Given the description of an element on the screen output the (x, y) to click on. 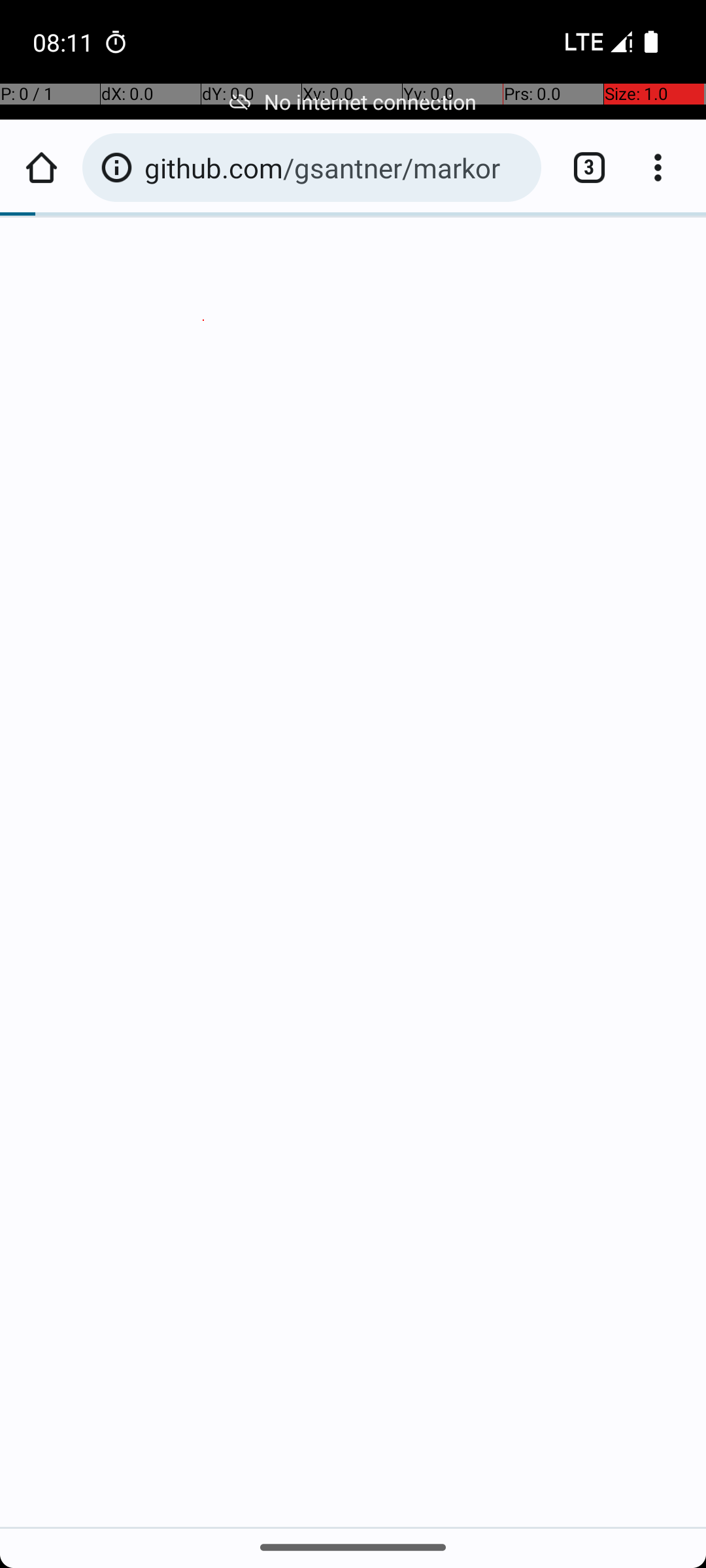
No internet connection Element type: android.widget.TextView (352, 101)
github.com/gsantner/markor Element type: android.widget.EditText (335, 167)
Switch or close tabs Element type: android.widget.ImageButton (582, 167)
08:11 Element type: android.widget.TextView (64, 41)
